Given the description of an element on the screen output the (x, y) to click on. 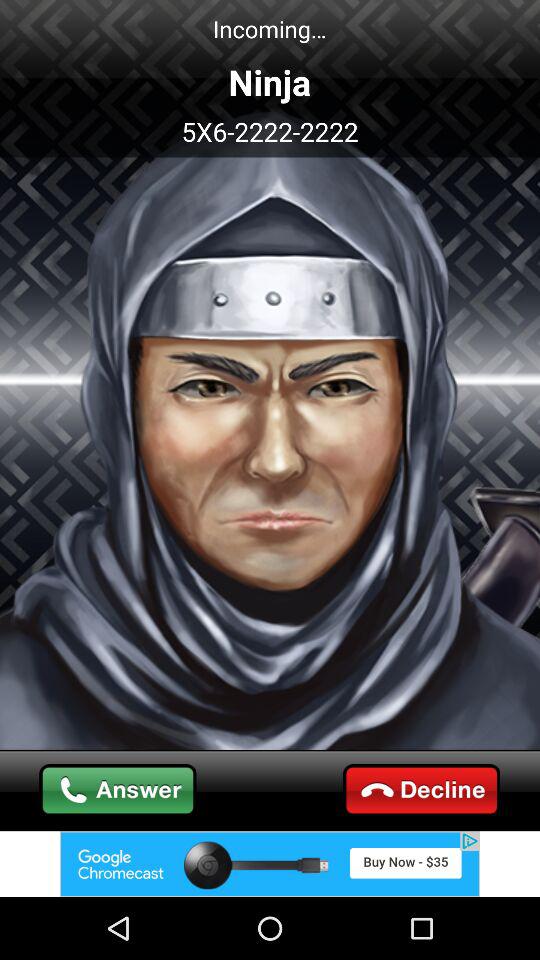
decline call (421, 790)
